Given the description of an element on the screen output the (x, y) to click on. 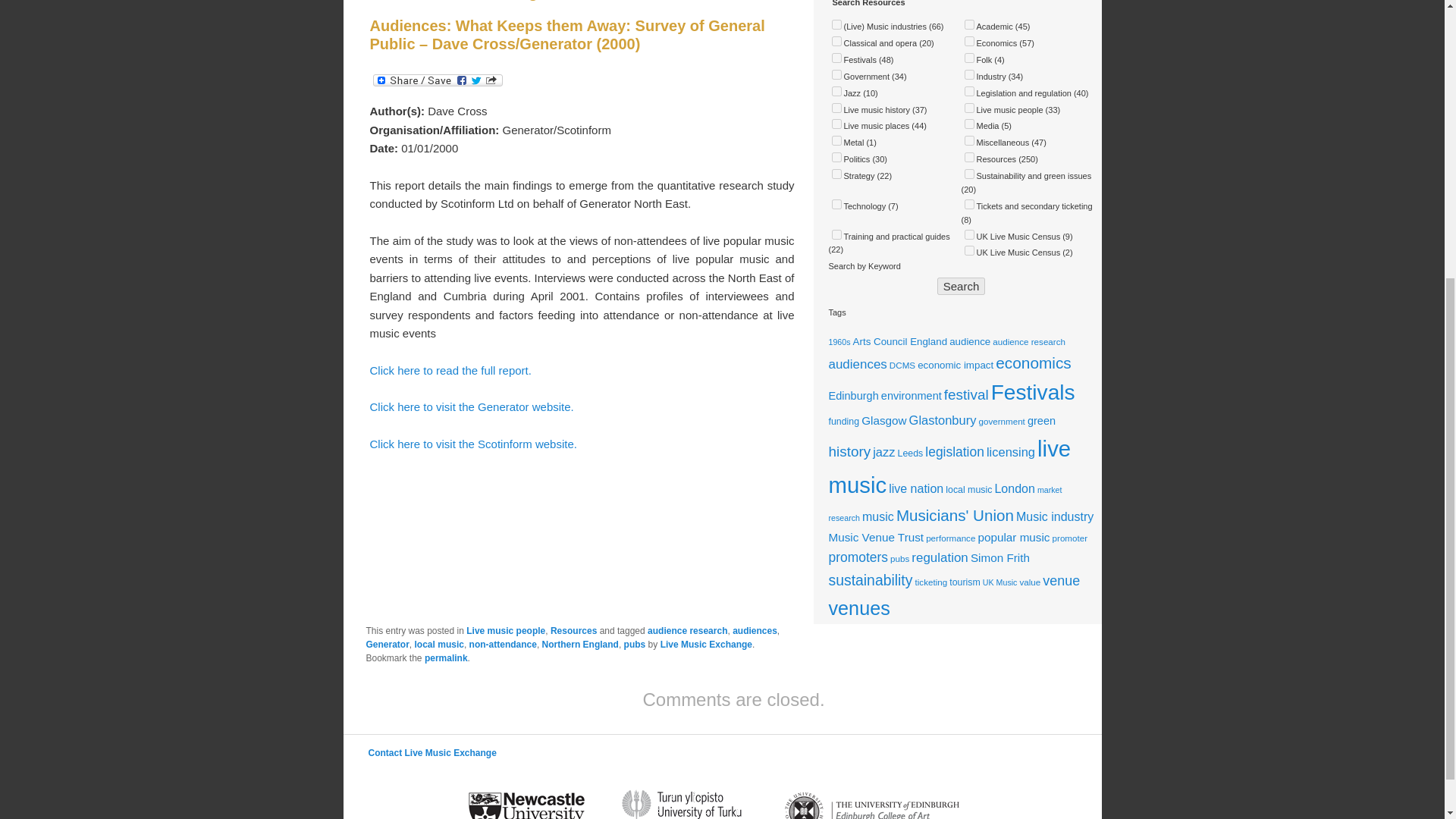
metal (836, 140)
classical-and-opera (836, 40)
audience (969, 341)
audiences (857, 364)
environment (911, 395)
Search (961, 285)
festivals (836, 58)
media (968, 123)
economics (1033, 362)
academic (968, 24)
politics-resources (836, 157)
festival (965, 394)
funding (843, 421)
government-resources (836, 74)
economics-resources (968, 40)
